Given the description of an element on the screen output the (x, y) to click on. 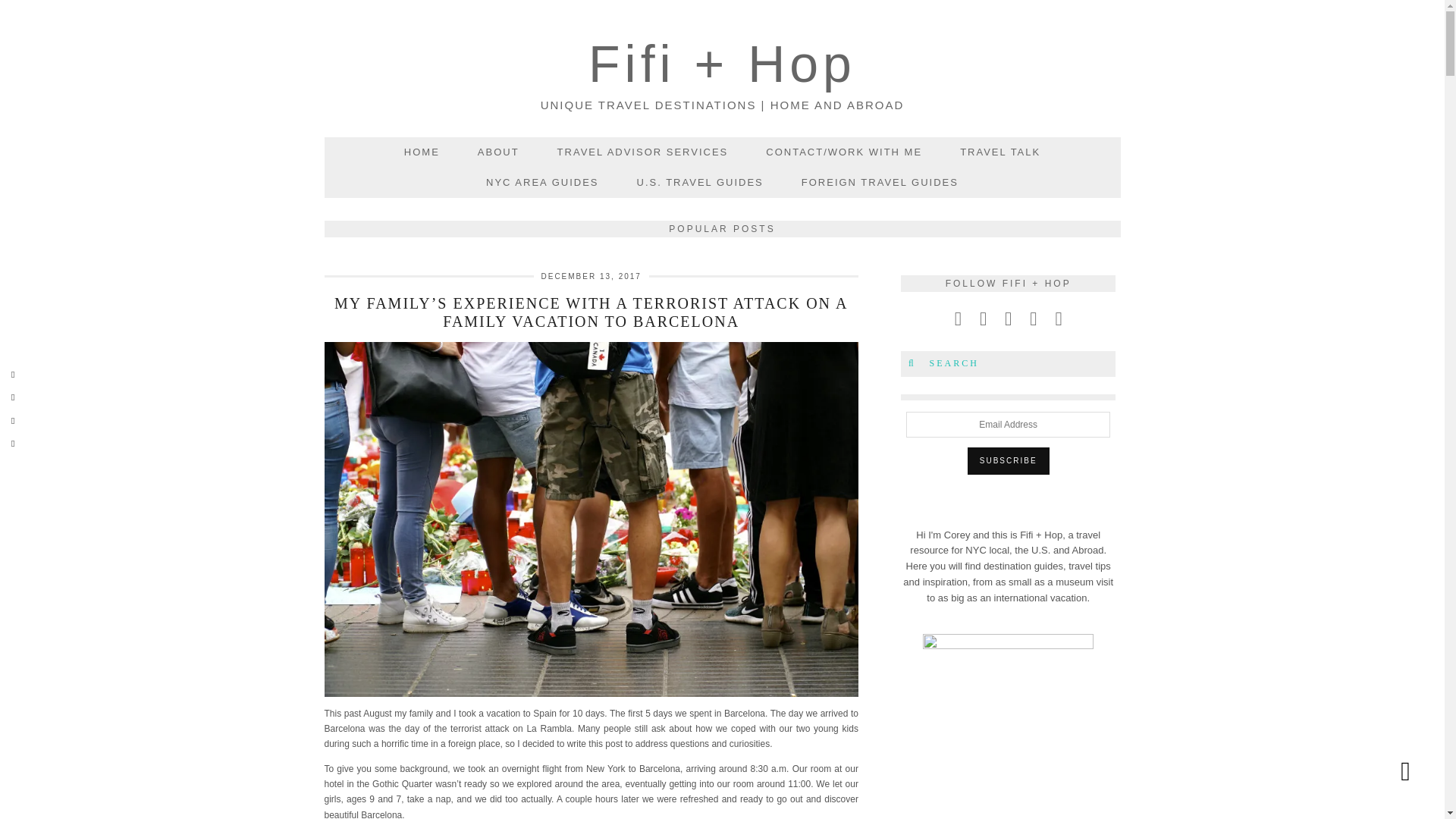
TRAVEL TALK (999, 151)
FOREIGN TRAVEL GUIDES (879, 182)
HOME (421, 151)
ABOUT (498, 151)
NYC AREA GUIDES (542, 182)
TRAVEL ADVISOR SERVICES (643, 151)
U.S. TRAVEL GUIDES (700, 182)
